Given the description of an element on the screen output the (x, y) to click on. 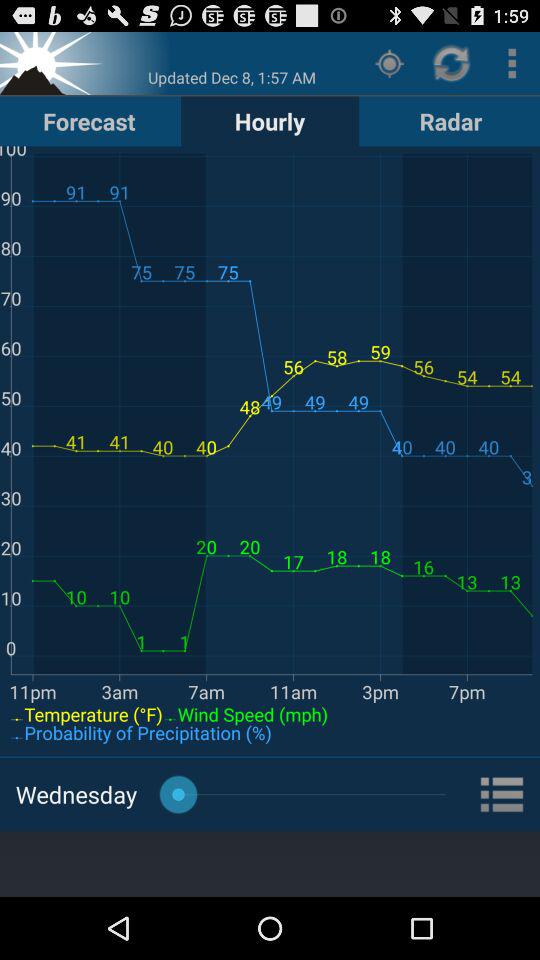
go to home (53, 62)
